Given the description of an element on the screen output the (x, y) to click on. 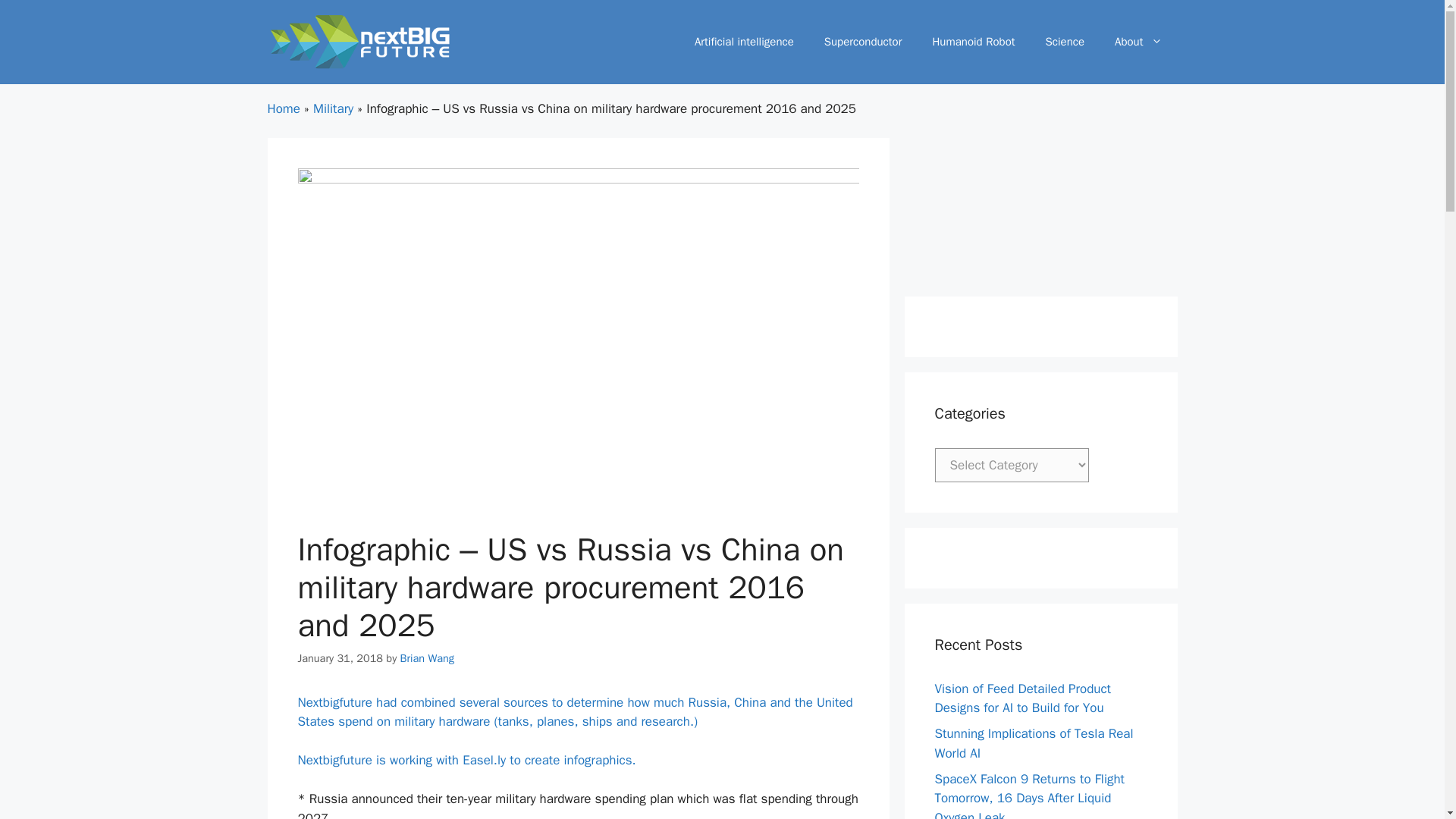
Superconductor (863, 41)
Home (282, 108)
Military (333, 108)
Science (1065, 41)
View all posts by Brian Wang (427, 658)
About (1137, 41)
Humanoid Robot (973, 41)
Brian Wang (427, 658)
Artificial intelligence (744, 41)
Stunning Implications of Tesla Real World AI (1033, 743)
